Given the description of an element on the screen output the (x, y) to click on. 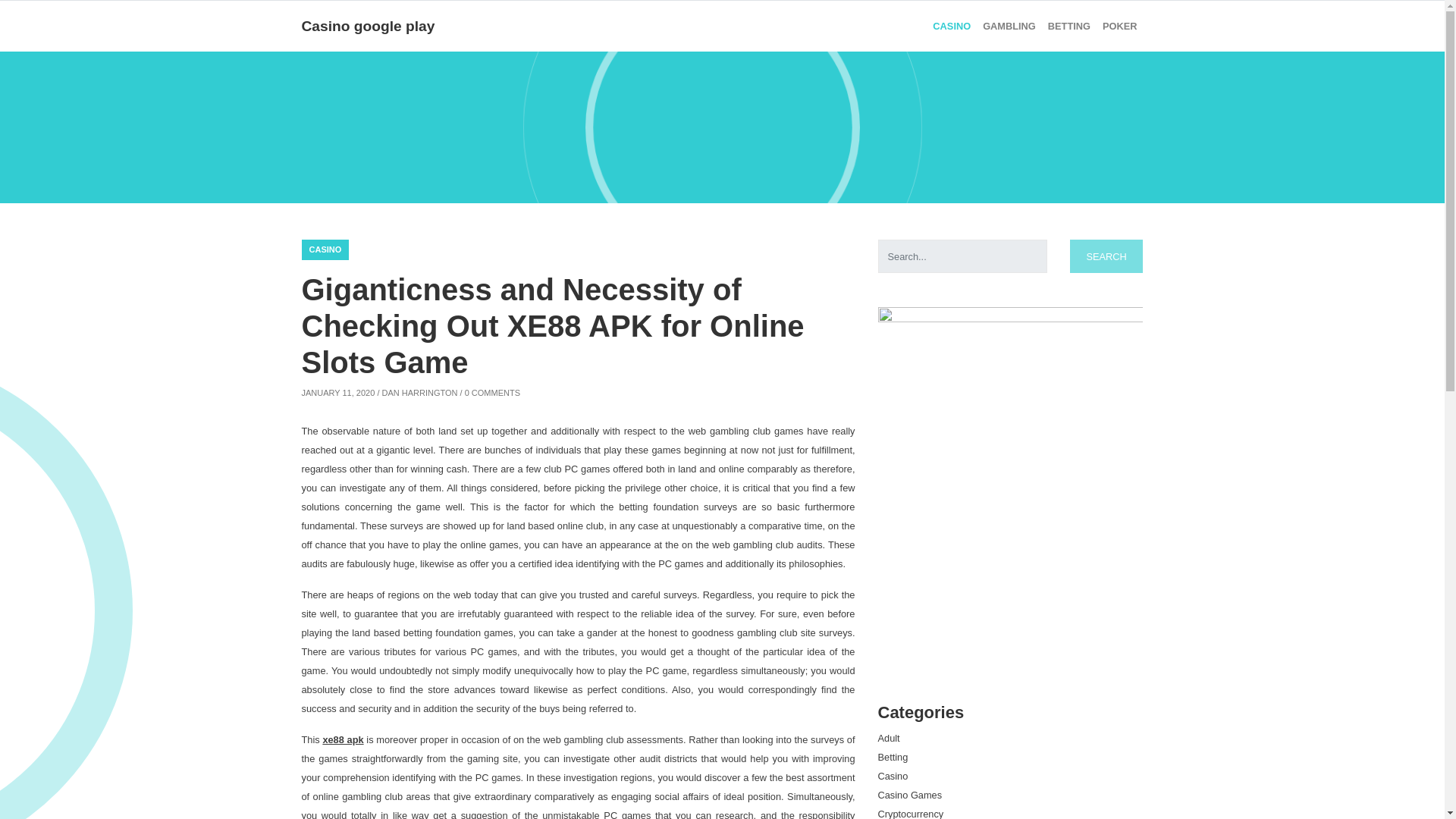
Betting (1069, 26)
CASINO (951, 26)
Adult (888, 737)
CASINO (325, 249)
Casino (951, 26)
Casino Games (909, 794)
Search (1106, 255)
Casino google play (368, 25)
Poker (1119, 26)
GAMBLING (1009, 26)
